Given the description of an element on the screen output the (x, y) to click on. 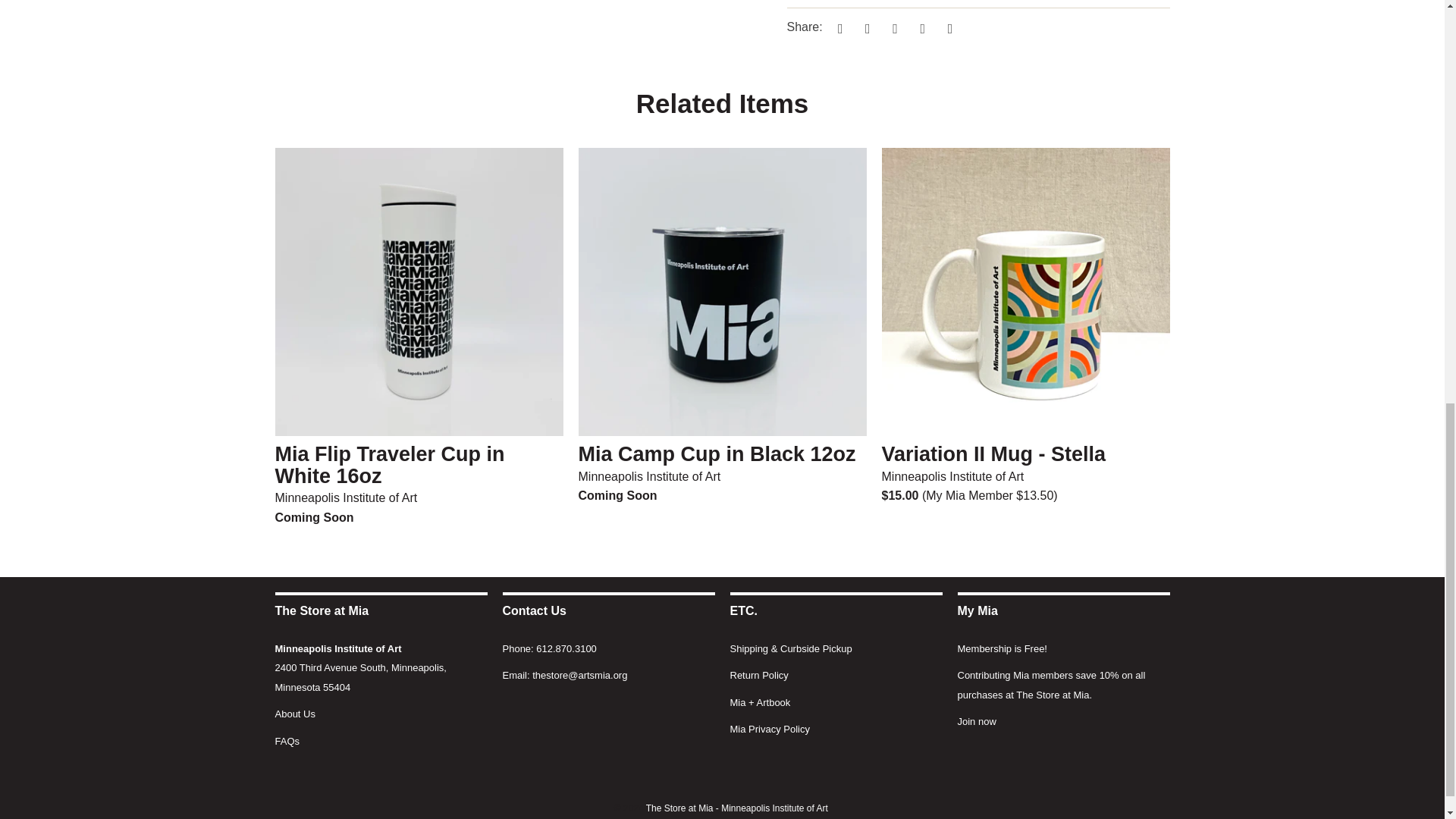
Share this on Twitter (837, 28)
Minneapolis Institute of Art (338, 648)
Share this on Facebook (865, 28)
Email this to a friend (947, 28)
Return Policy (758, 674)
About (294, 713)
Frequently Asked Questions (287, 740)
Share this on Pinterest (892, 28)
